Given the description of an element on the screen output the (x, y) to click on. 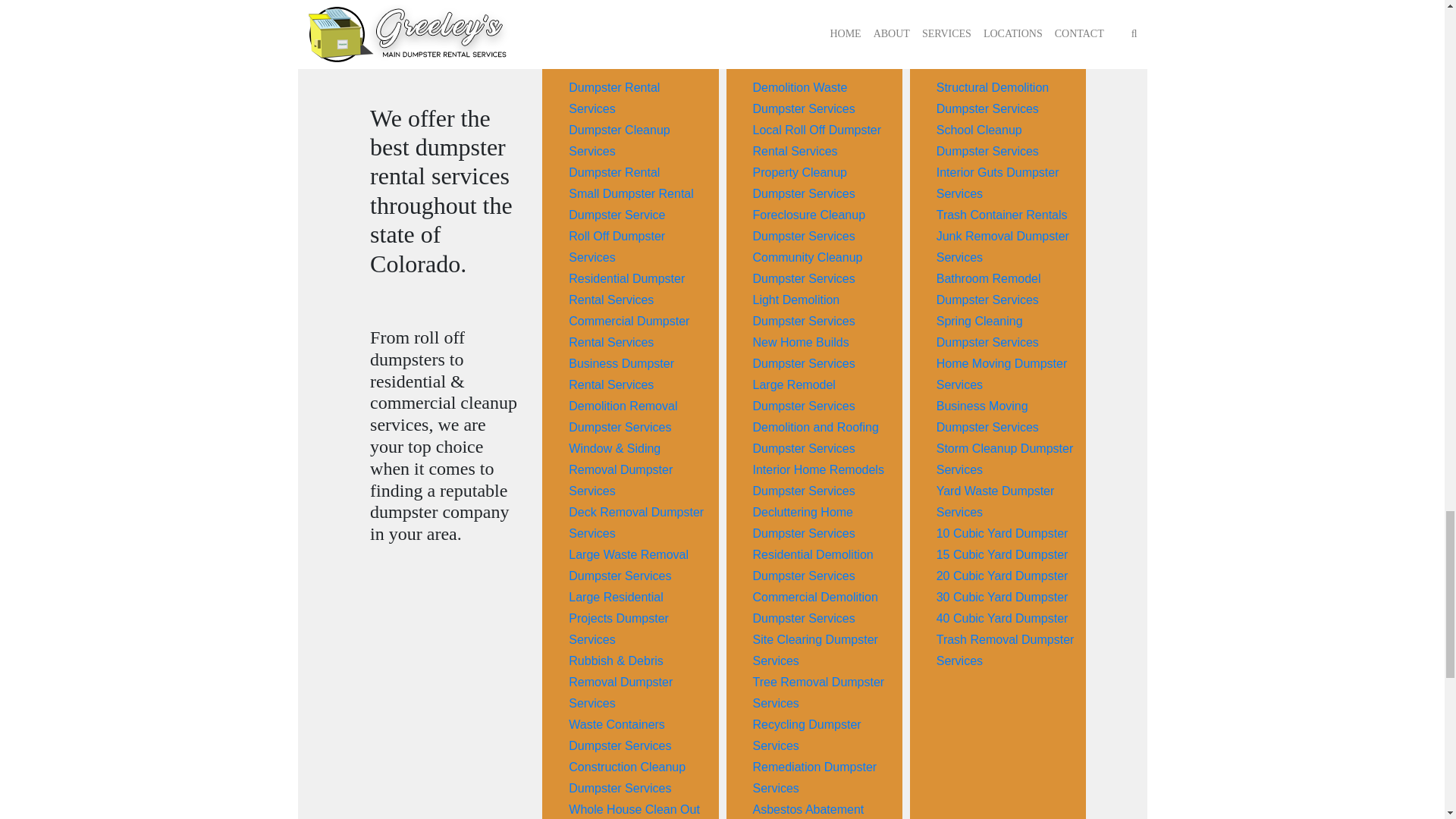
Deck Removal Dumpster Services (636, 522)
Dumpster Cleanup Services (619, 140)
Dumpster Service (617, 214)
Interior Home Remodels Dumpster Services (817, 480)
Foreclosure Cleanup Dumpster Services (808, 225)
Large Residential Projects Dumpster Services (618, 618)
Business Dumpster Rental Services (621, 374)
Demolition Removal Dumpster Services (623, 416)
Property Cleanup Dumpster Services (803, 182)
Dumpster Rental Services (614, 98)
Community Cleanup Dumpster Services (806, 267)
Waste Containers Dumpster Services (620, 735)
Residential Dumpster Rental Services (626, 288)
Commercial Dumpster Rental Services (628, 331)
Light Demolition Dumpster Services (803, 310)
